Given the description of an element on the screen output the (x, y) to click on. 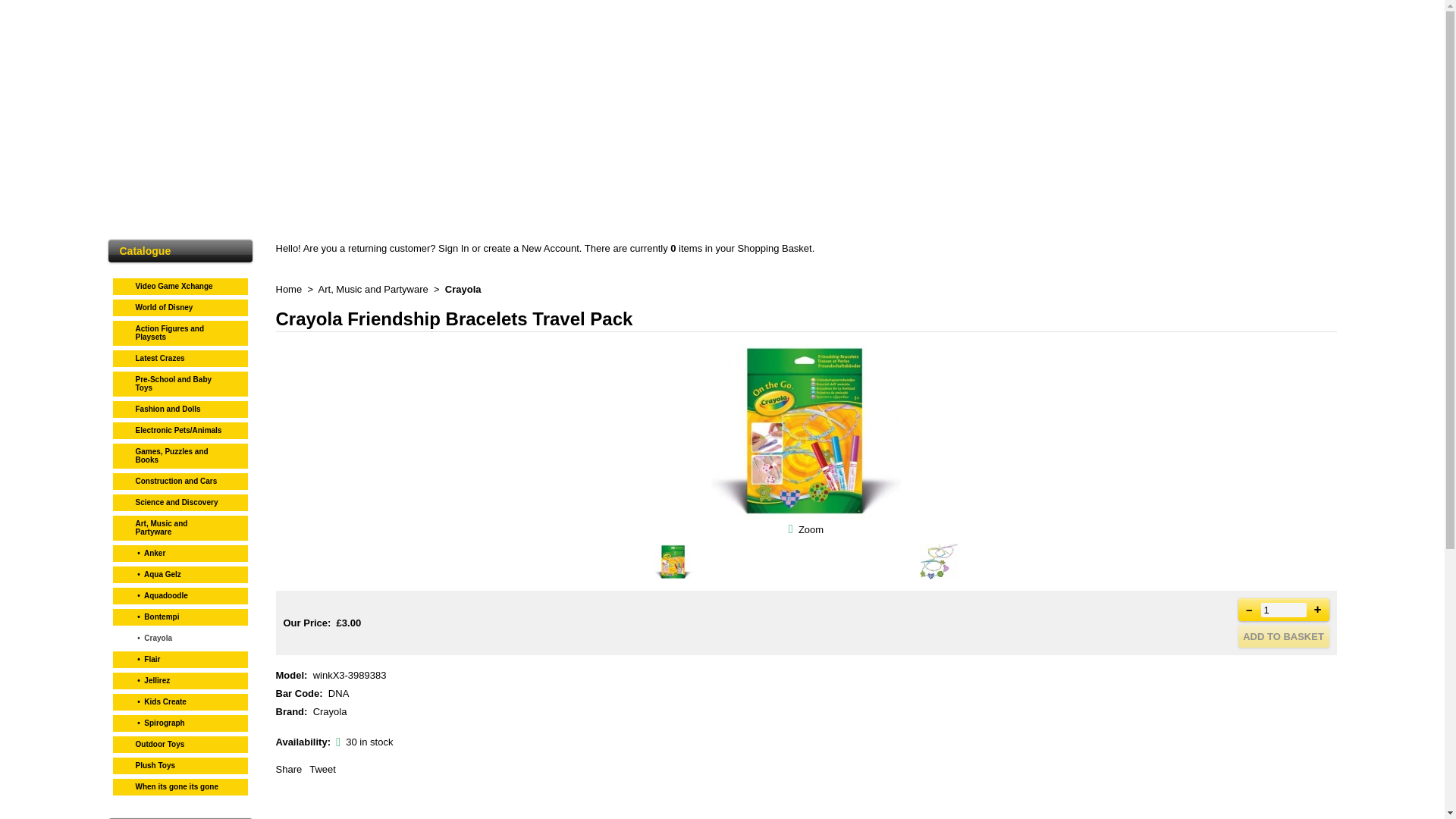
New Account (550, 247)
Action Figures and Playsets (179, 330)
Plush Toys (179, 762)
Science and Discovery (179, 500)
Art, Music and Partyware (179, 525)
Crayola (463, 288)
Outdoor Toys (179, 742)
Pre-School and Baby Toys (179, 381)
Sign In (453, 247)
ADD TO BASKET (1282, 635)
